Given the description of an element on the screen output the (x, y) to click on. 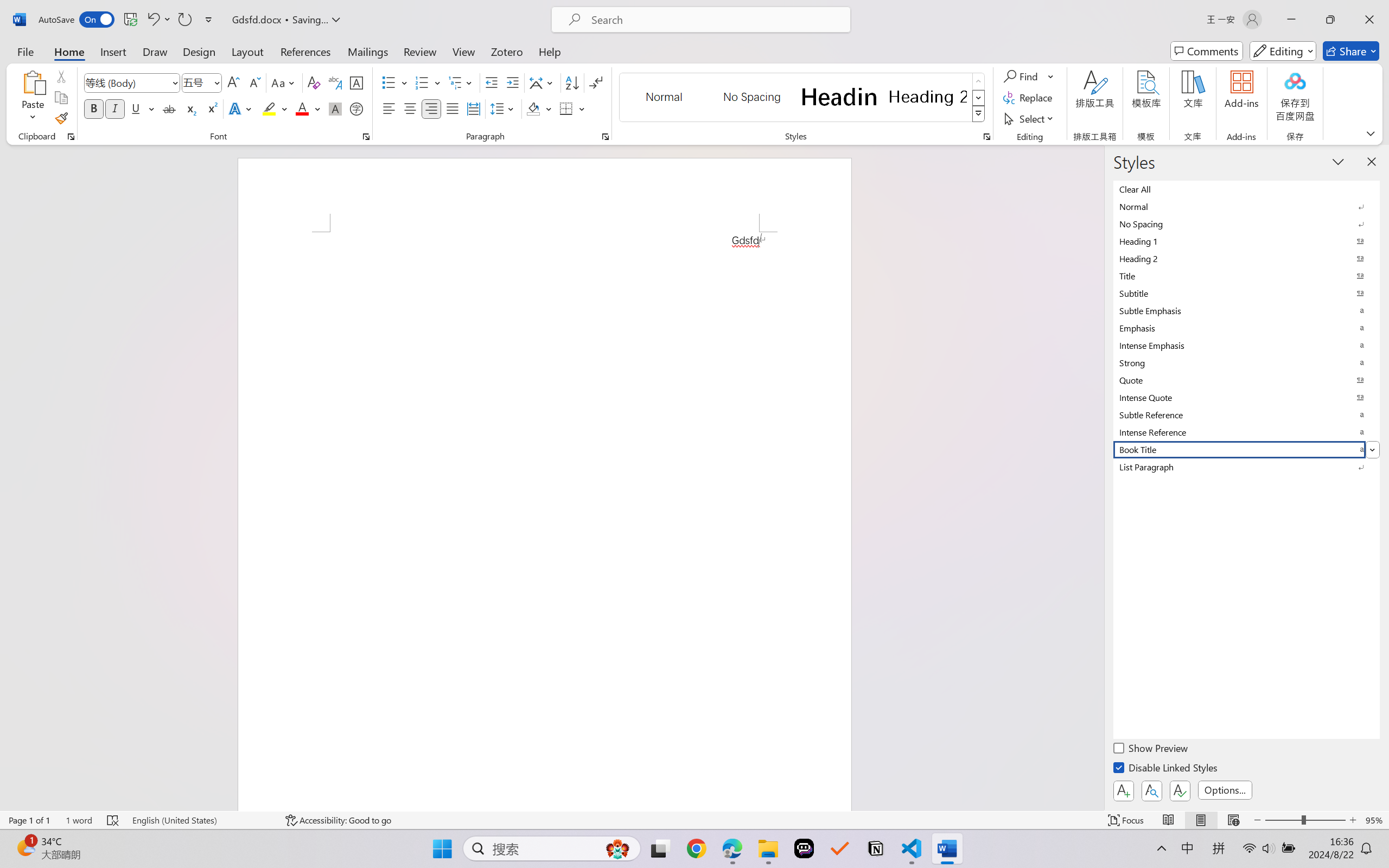
Character Border (356, 82)
Format Painter (60, 118)
Italic (115, 108)
Enclose Characters... (356, 108)
Row Down (978, 97)
Heading 1 (839, 96)
Multilevel List (461, 82)
Phonetic Guide... (334, 82)
Office Clipboard... (70, 136)
Center (409, 108)
Bold (94, 108)
